Given the description of an element on the screen output the (x, y) to click on. 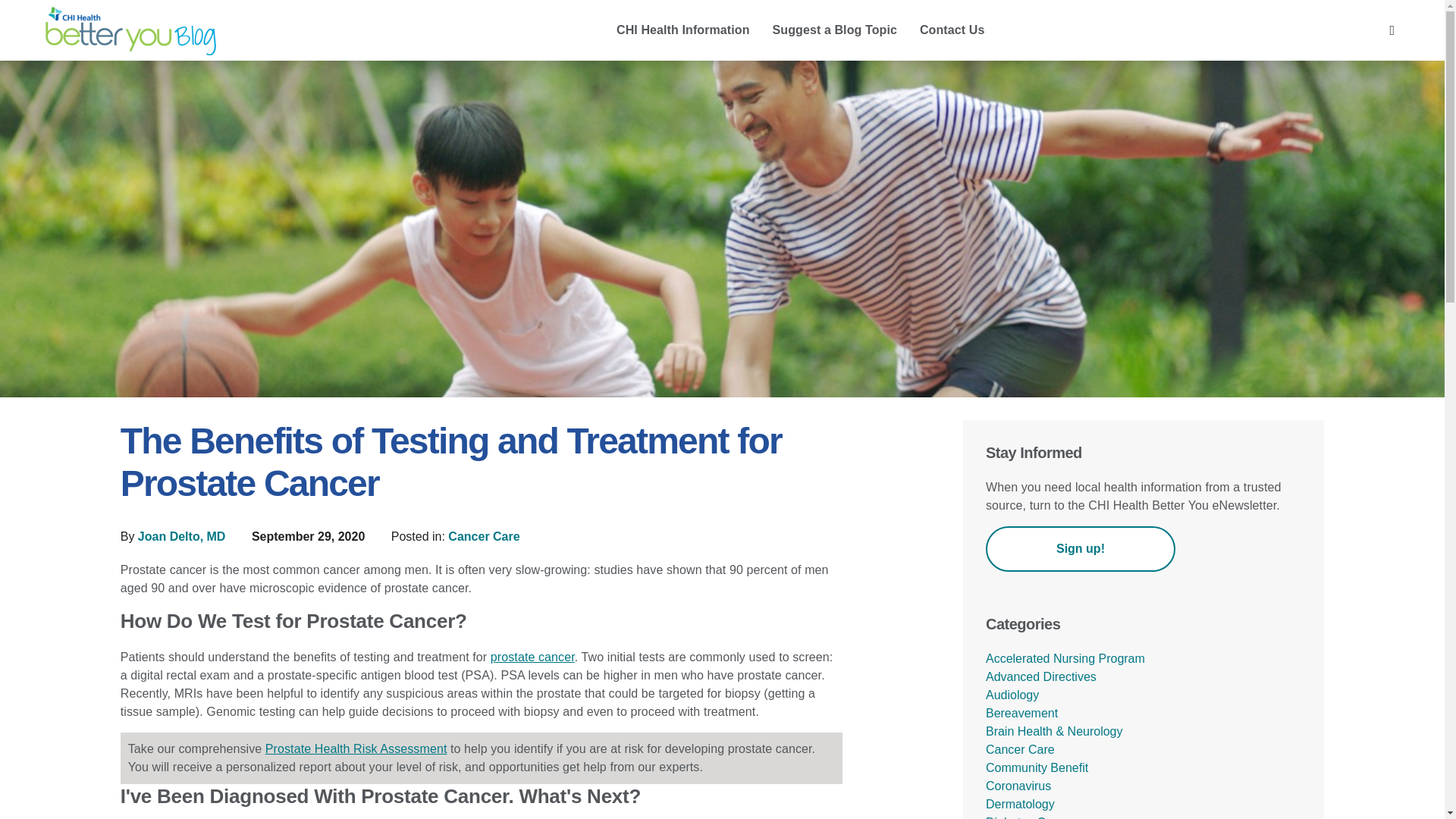
Cancer Care (483, 535)
Prostate Health Risk Assessment (355, 748)
Community Benefit (1036, 767)
ProstateCancerAware (355, 748)
Sign up! (1079, 548)
Contact Us (951, 31)
Dermatology (1019, 803)
Joan Delto, MD (183, 535)
Suggest a Blog Topic (834, 31)
Advanced Directives (1040, 676)
